Given the description of an element on the screen output the (x, y) to click on. 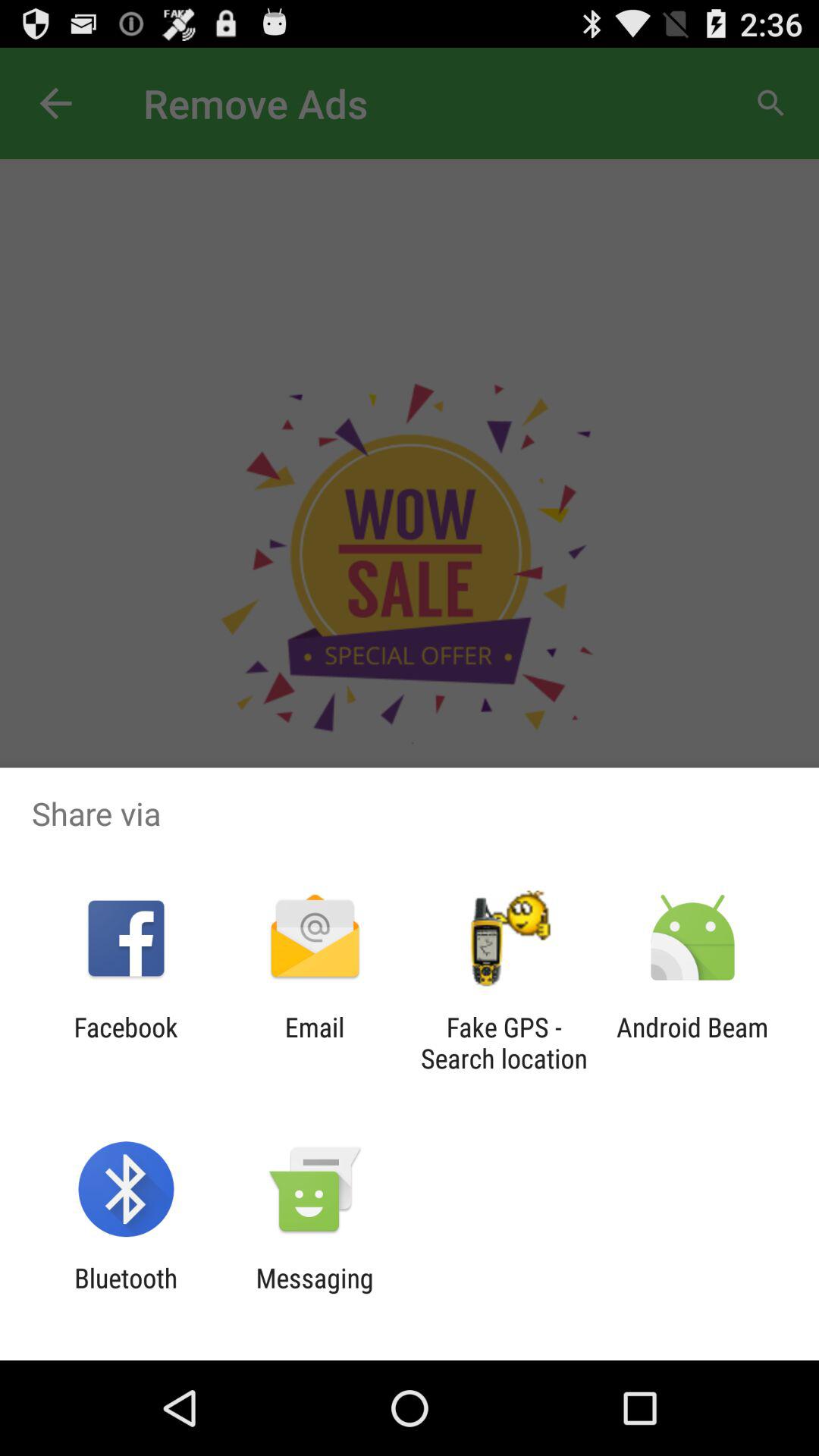
launch the facebook (125, 1042)
